Given the description of an element on the screen output the (x, y) to click on. 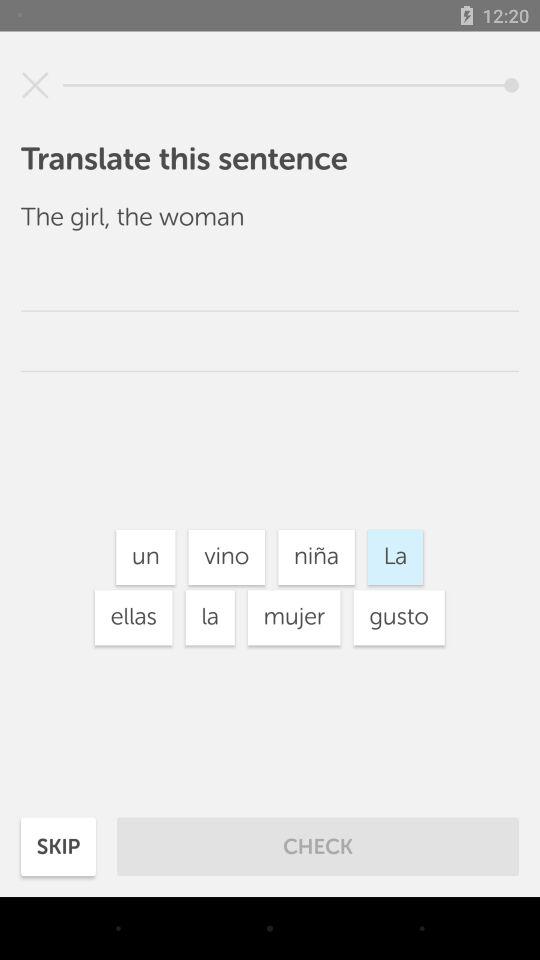
select the button which is above the button gusto (394, 556)
select la (209, 617)
go to skip (58, 846)
click on check button (317, 846)
click on the un button (146, 556)
click on text which is right to un (227, 556)
